Given the description of an element on the screen output the (x, y) to click on. 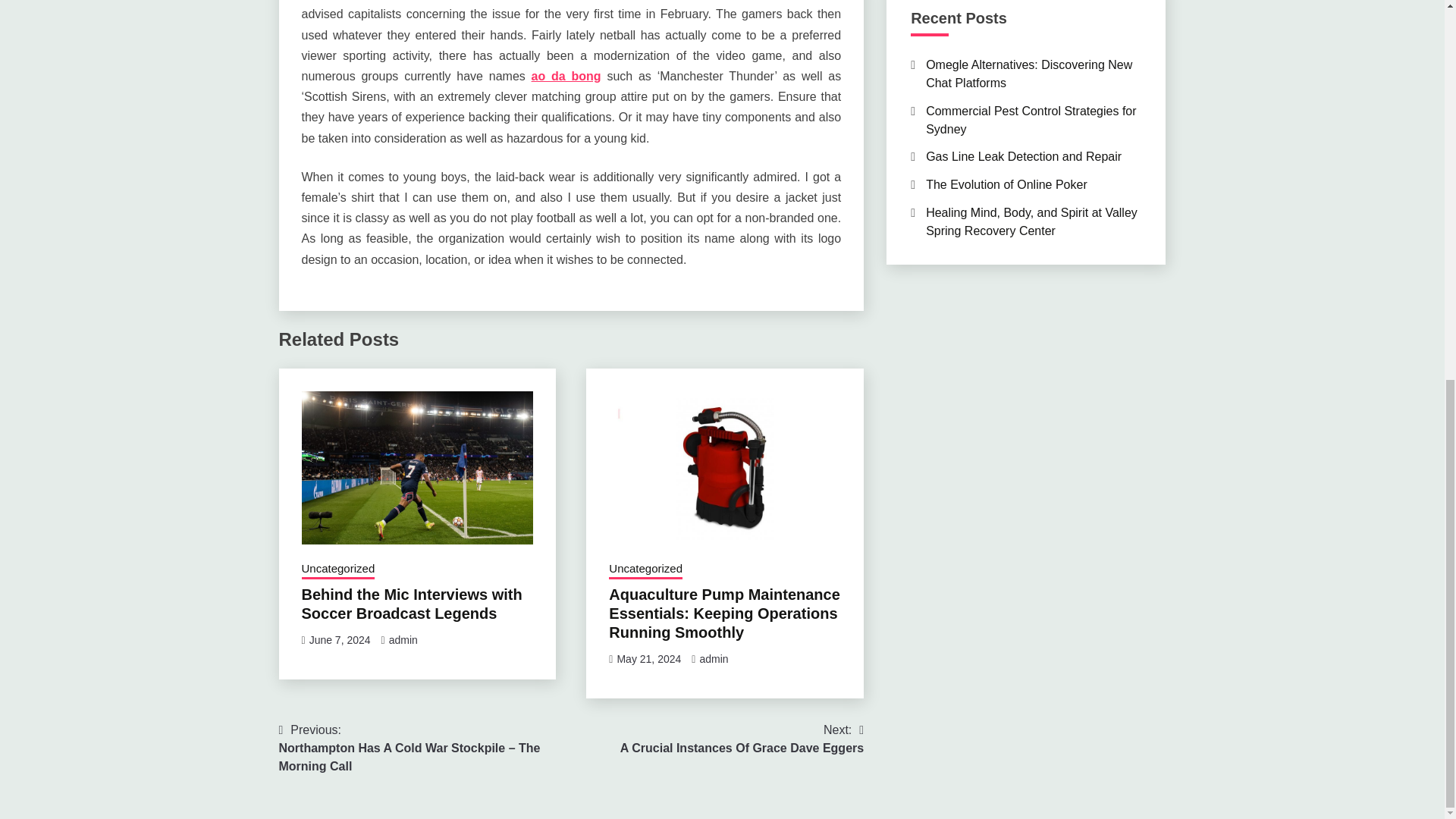
admin (713, 658)
June 7, 2024 (339, 639)
May 21, 2024 (741, 739)
Uncategorized (648, 658)
admin (338, 569)
ao da bong (402, 639)
Uncategorized (566, 75)
Behind the Mic Interviews with Soccer Broadcast Legends (645, 569)
